Given the description of an element on the screen output the (x, y) to click on. 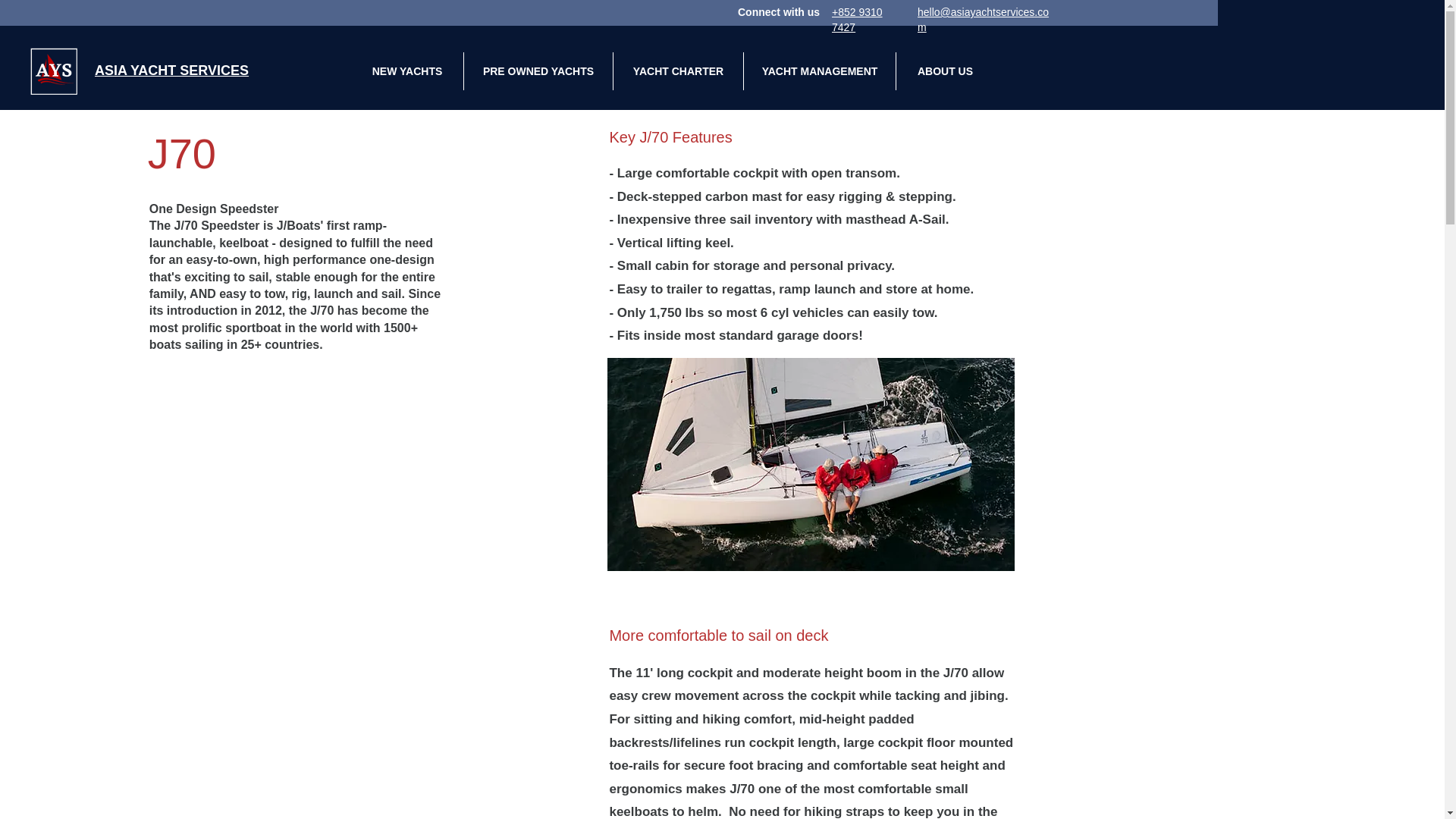
YACHT MANAGEMENT (818, 71)
PRE OWNED YACHTS (537, 71)
ASIA YACHT SERVICES (171, 70)
ABOUT US (944, 71)
NEW YACHTS (406, 71)
YACHT CHARTER (677, 71)
